Given the description of an element on the screen output the (x, y) to click on. 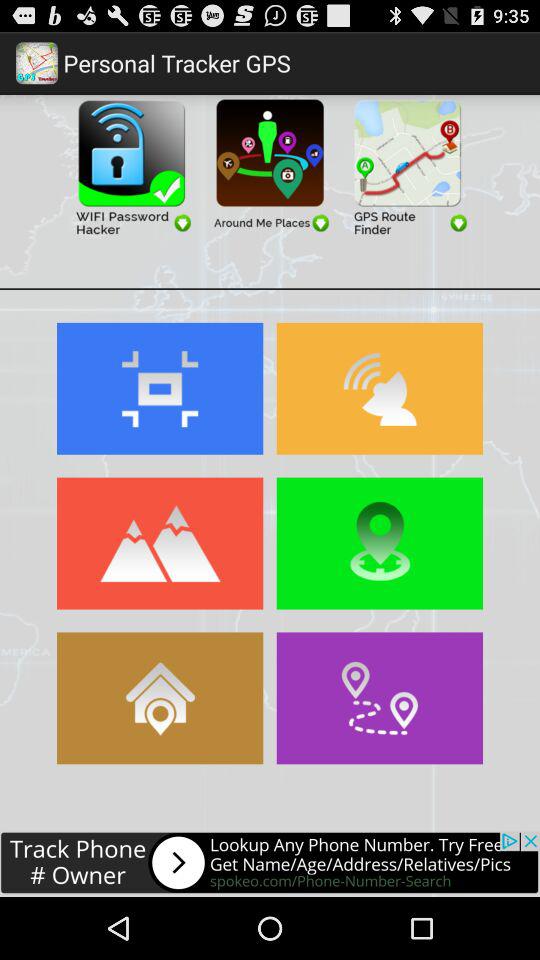
view fullscreen (160, 388)
